Given the description of an element on the screen output the (x, y) to click on. 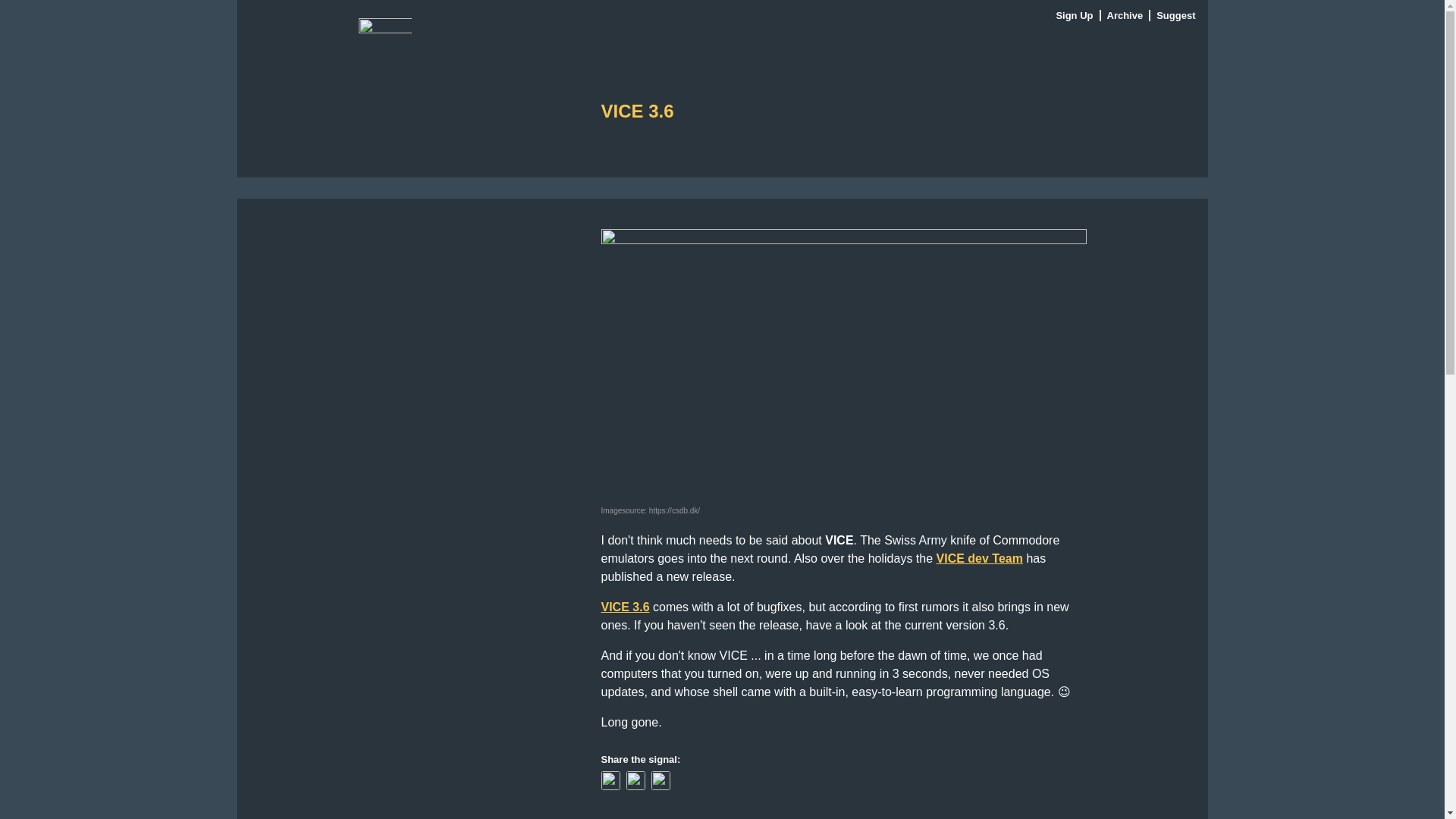
Archive (1125, 15)
Sign Up (1074, 15)
VICE dev Team (979, 558)
Suggest (1175, 15)
VICE 3.6 (624, 606)
